Given the description of an element on the screen output the (x, y) to click on. 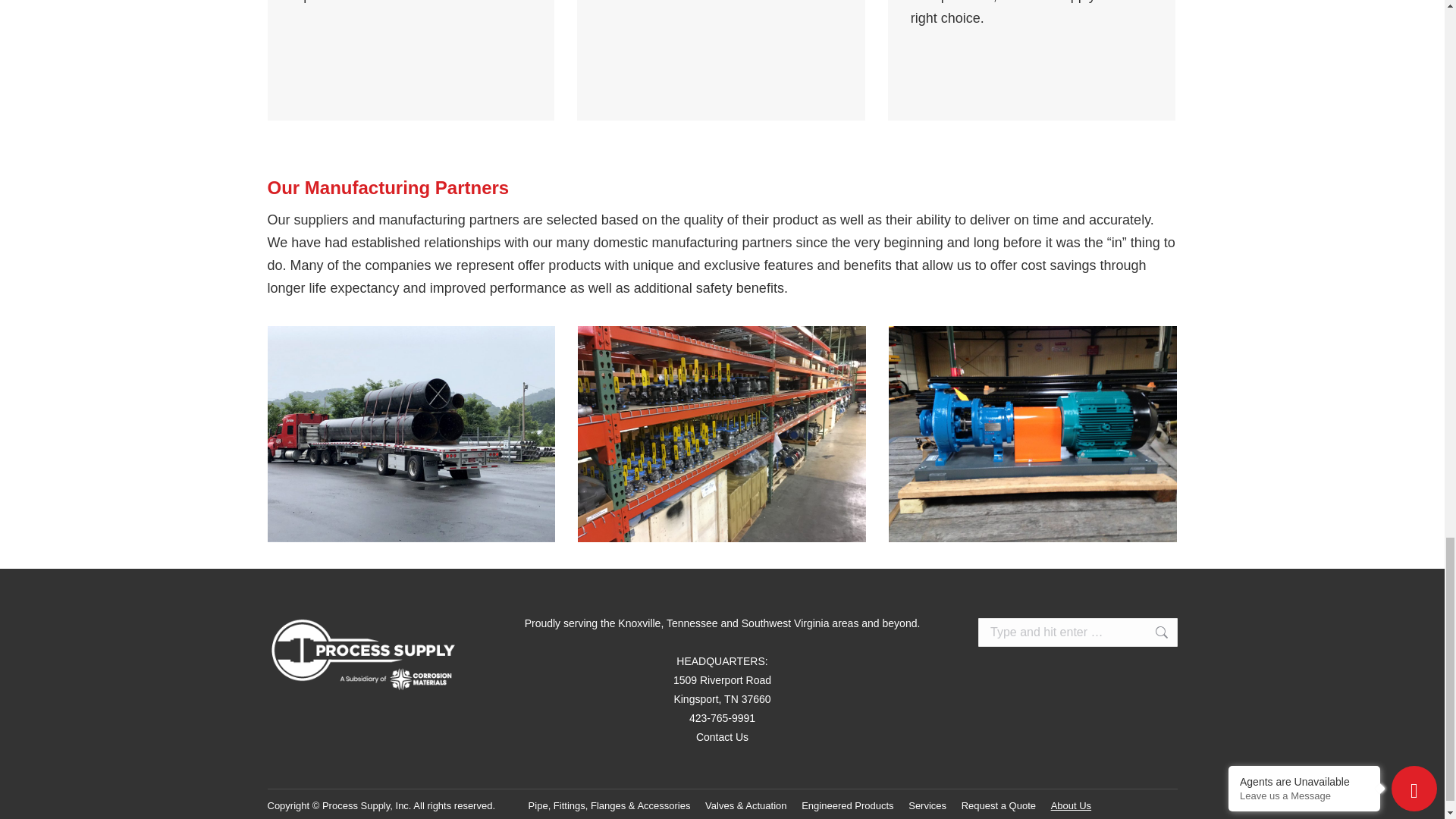
Go! (1153, 632)
Go! (1153, 632)
